Given the description of an element on the screen output the (x, y) to click on. 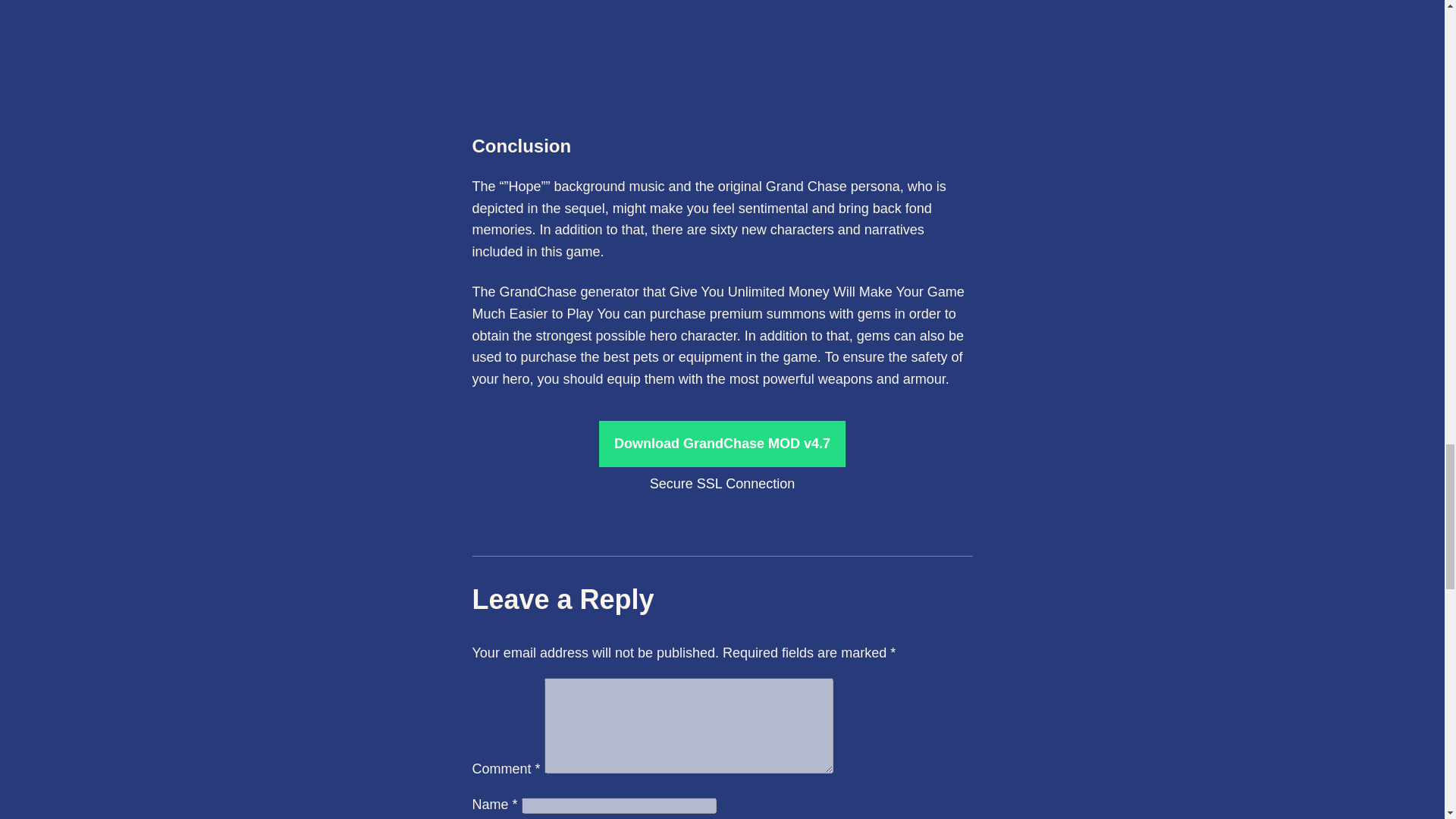
Download GrandChase MOD v4.7 (721, 443)
Download GrandChase MOD v4.7 (721, 443)
